Given the description of an element on the screen output the (x, y) to click on. 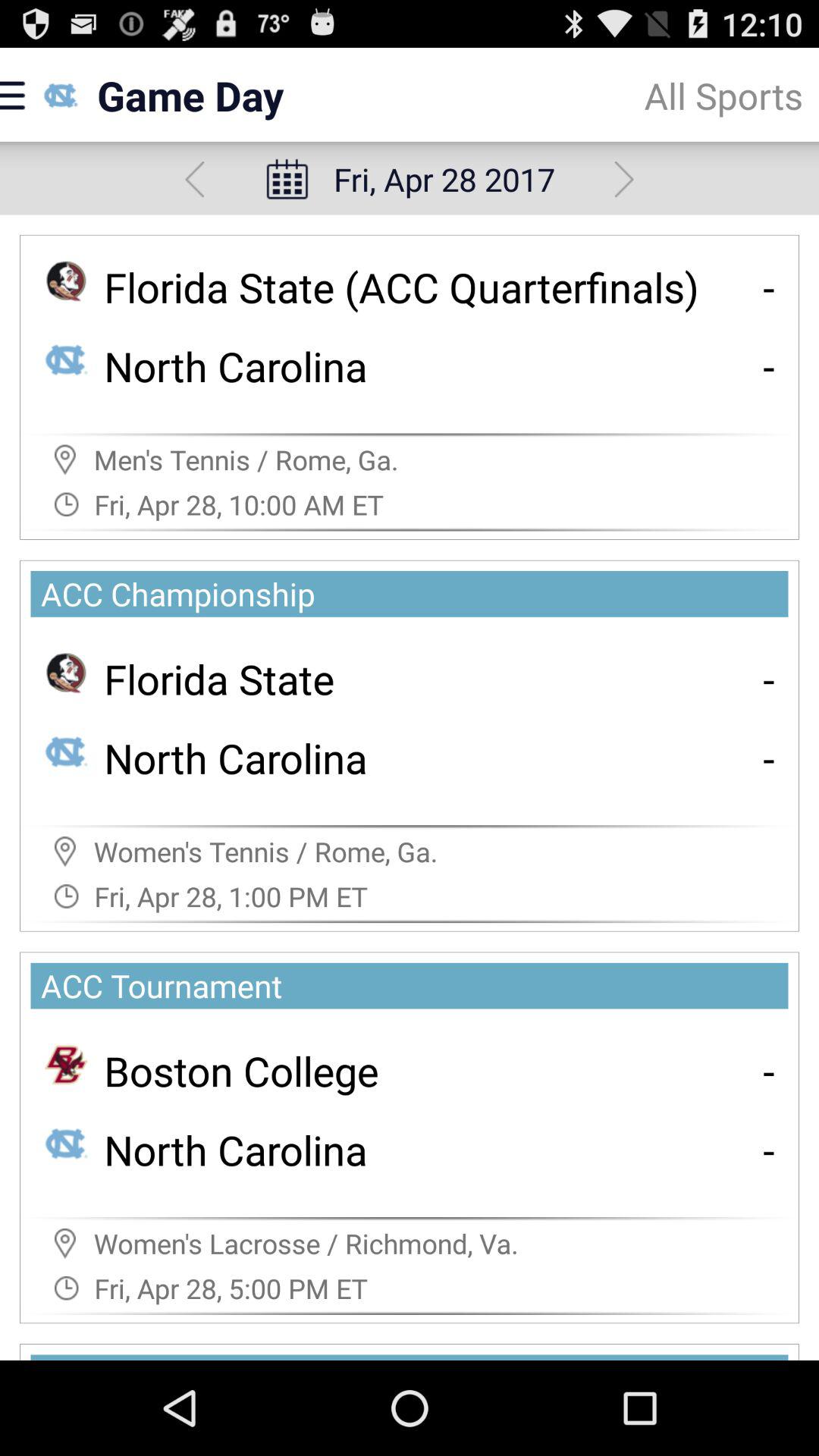
select item below acc tournament item (768, 1070)
